Given the description of an element on the screen output the (x, y) to click on. 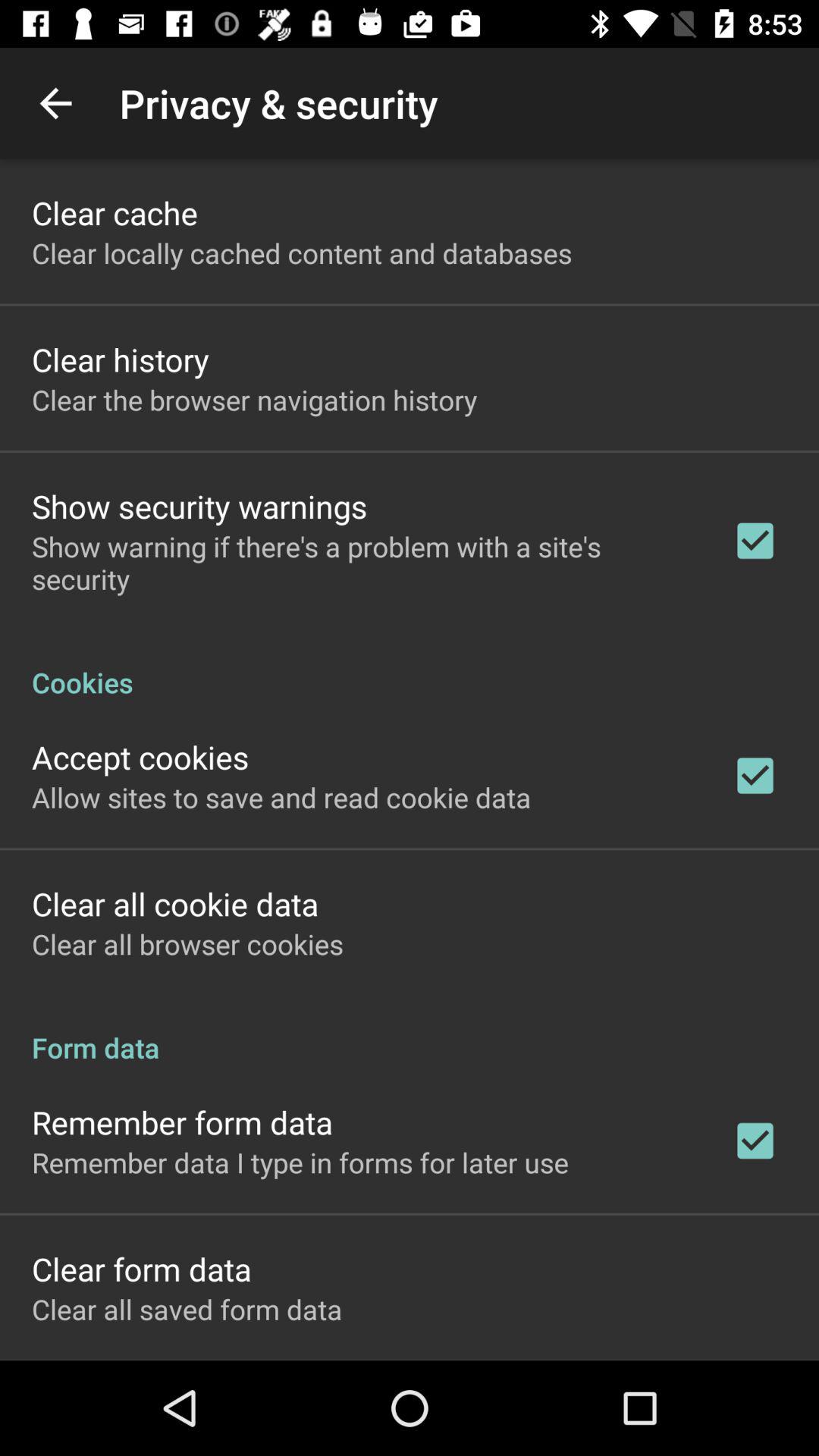
press item above the clear locally cached (114, 212)
